Given the description of an element on the screen output the (x, y) to click on. 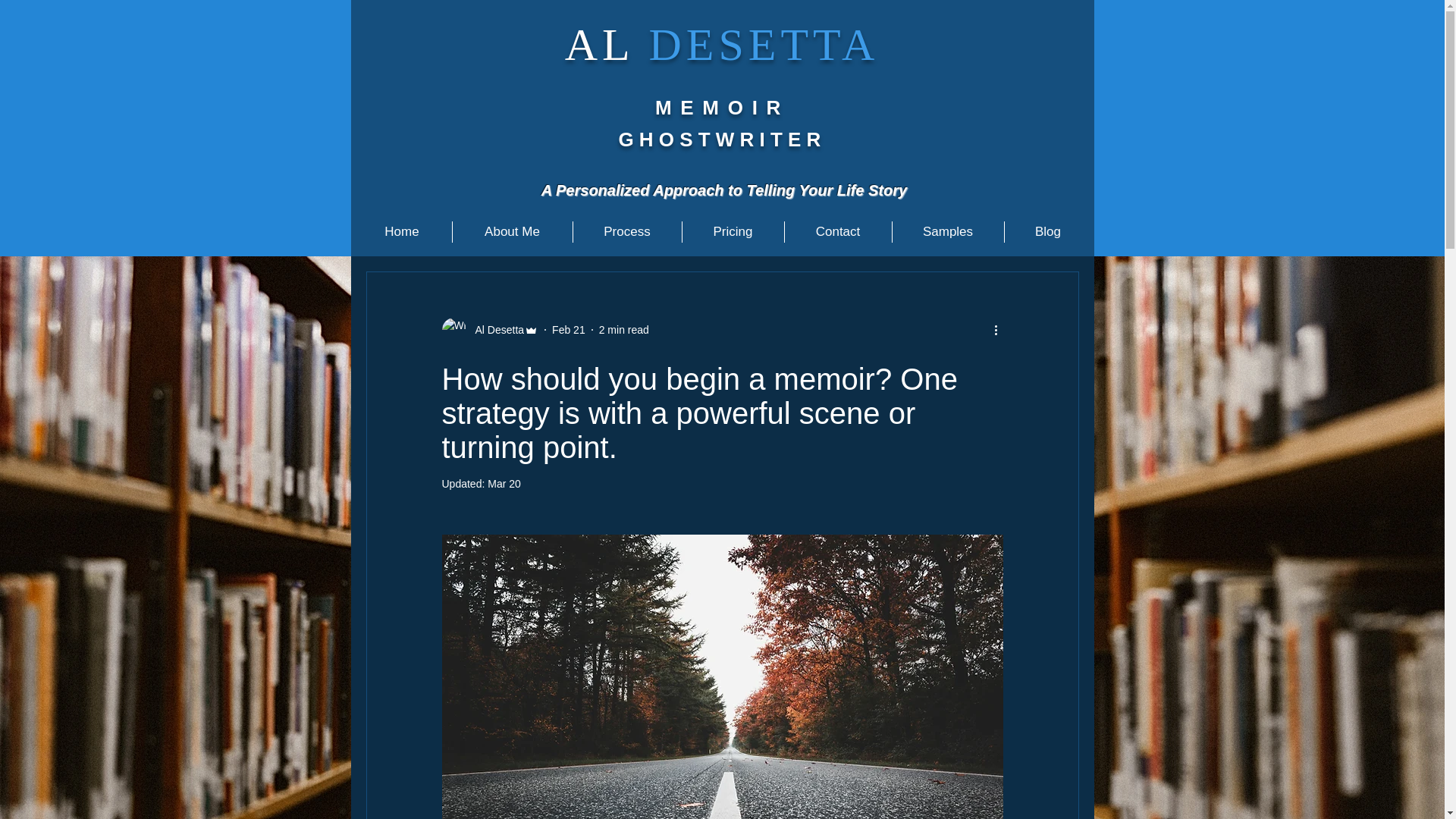
Blog (1047, 231)
2 min read (623, 328)
Pricing (733, 231)
Feb 21 (568, 328)
About Me (511, 231)
Contact (837, 231)
Process (627, 231)
Samples (947, 231)
Mar 20 (504, 483)
Al Desetta (494, 329)
Home (401, 231)
